Given the description of an element on the screen output the (x, y) to click on. 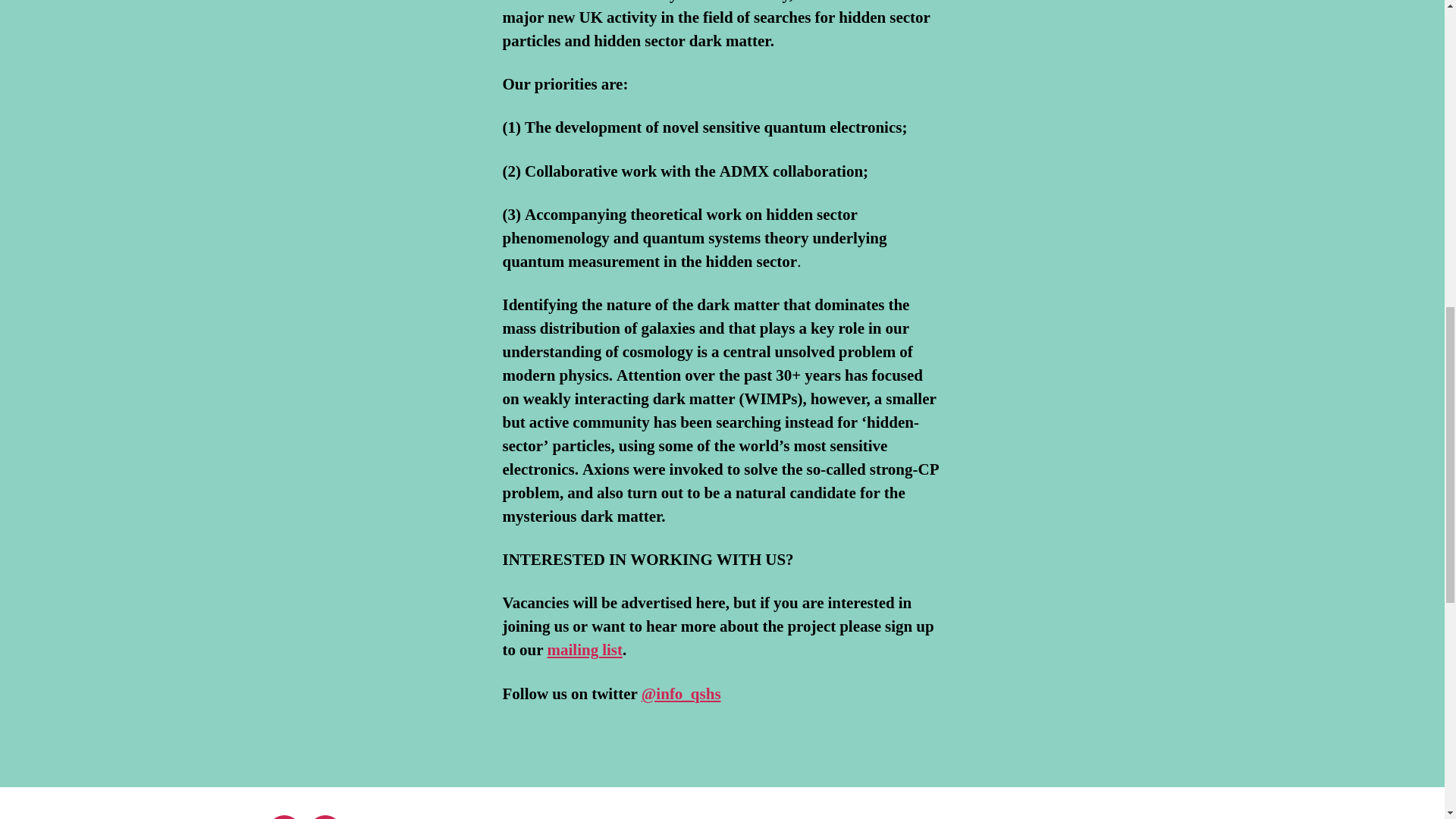
QSHS Email (323, 816)
QSHS Twitter (282, 816)
mailing list (585, 649)
Email (323, 816)
Twitter (282, 816)
